Given the description of an element on the screen output the (x, y) to click on. 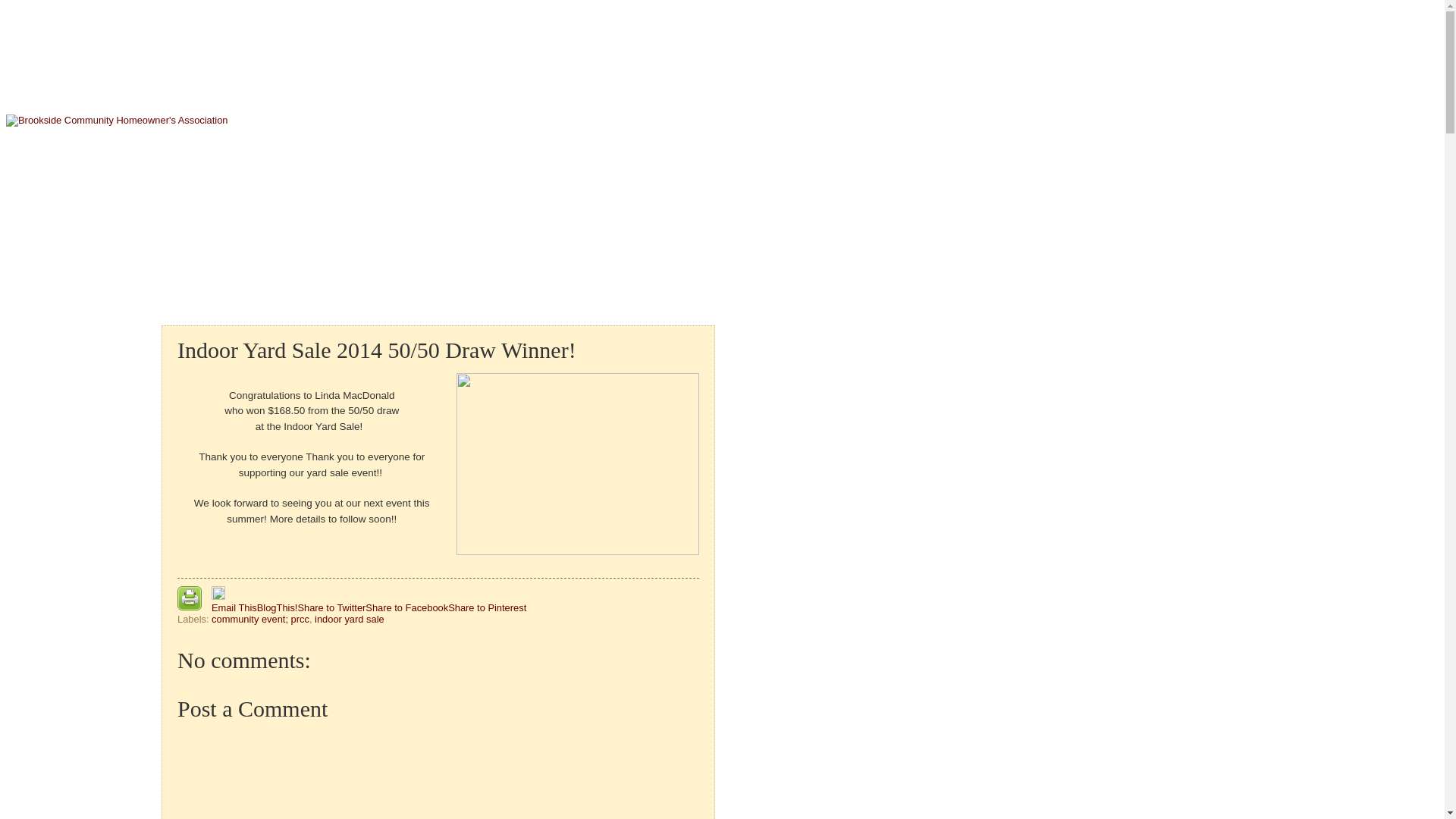
indoor yard sale Element type: text (349, 618)
Email This Element type: text (234, 607)
BlogThis! Element type: text (277, 607)
community event; prcc Element type: text (260, 618)
Share to Twitter Element type: text (331, 607)
Printer Friendly and PDF Element type: hover (189, 599)
Share to Facebook Element type: text (406, 607)
Edit Post Element type: hover (218, 596)
Share to Pinterest Element type: text (487, 607)
